Given the description of an element on the screen output the (x, y) to click on. 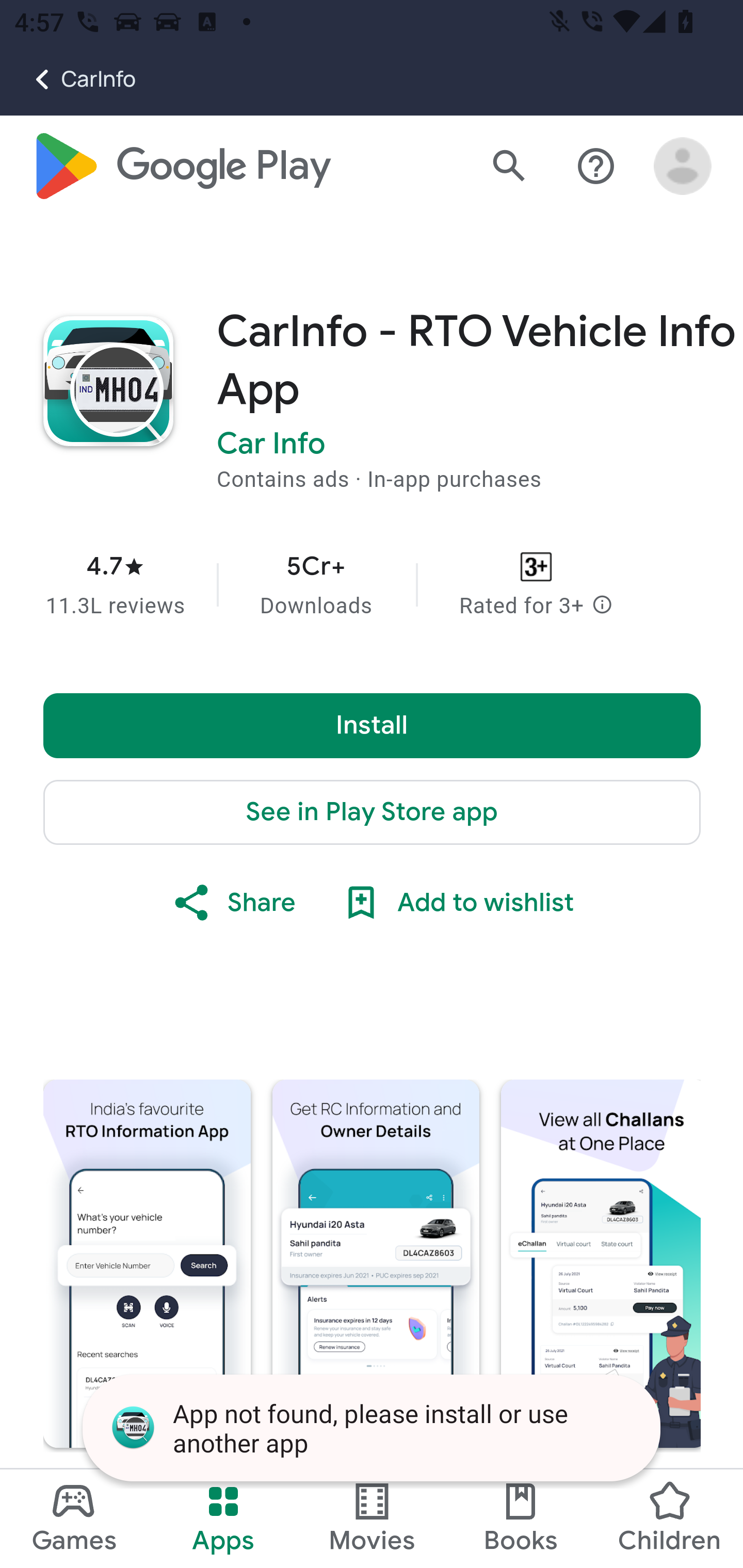
CarInfo (67, 79)
Google Play logo (180, 166)
Search (508, 166)
Help centre (596, 166)
Open account menu (682, 166)
Car Info (271, 445)
More info about this content rating (601, 606)
Install (372, 726)
See in Play Store app (372, 812)
Share (233, 903)
Add to wishlist (455, 903)
Screenshot image (147, 1263)
Screenshot image (375, 1263)
Screenshot image (601, 1263)
Games (74, 1518)
Apps (222, 1518)
Movies (372, 1518)
Books (520, 1518)
Children (668, 1518)
